Given the description of an element on the screen output the (x, y) to click on. 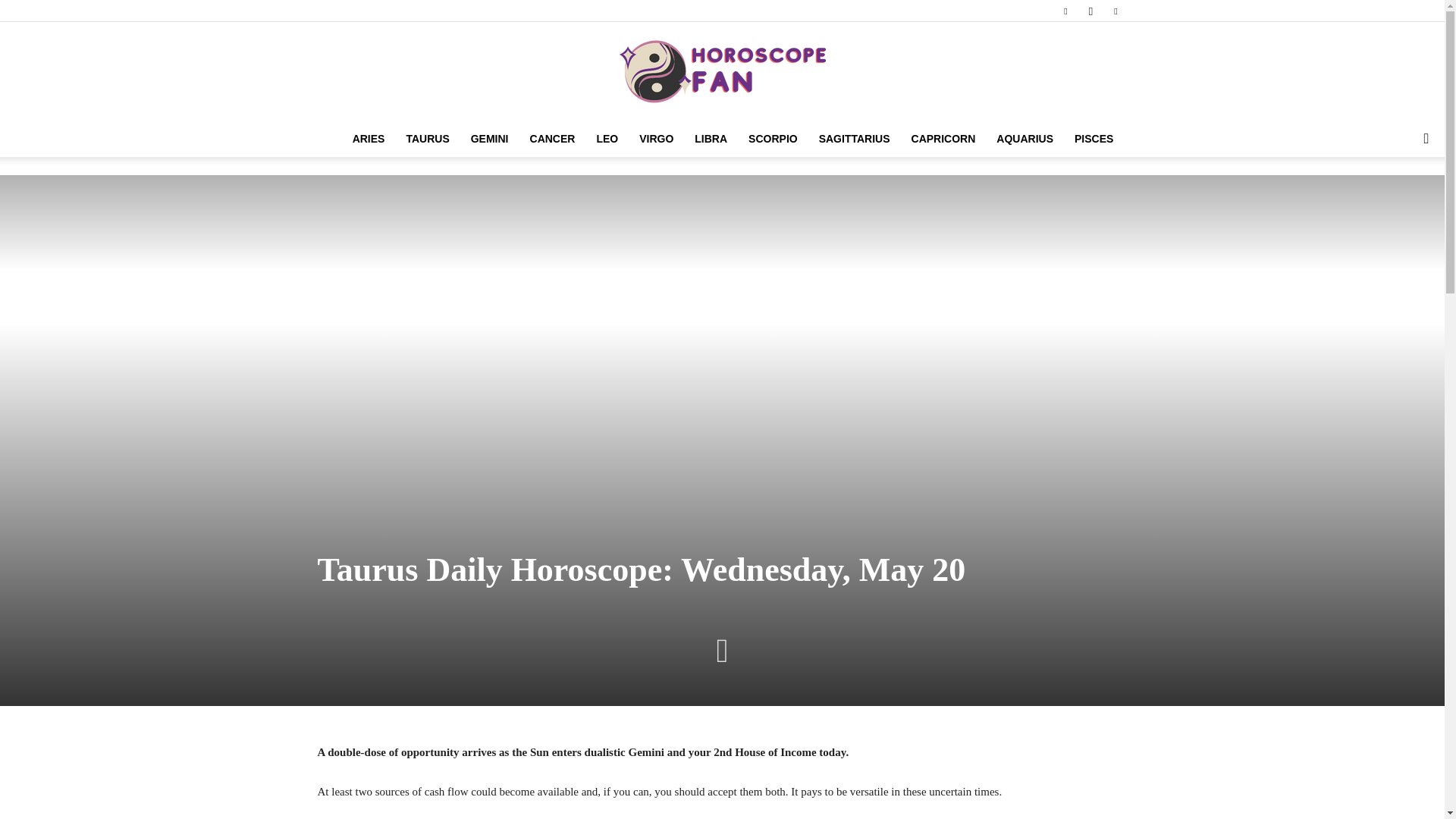
Pinterest (1114, 10)
Instagram (1090, 10)
Facebook (1065, 10)
